Given the description of an element on the screen output the (x, y) to click on. 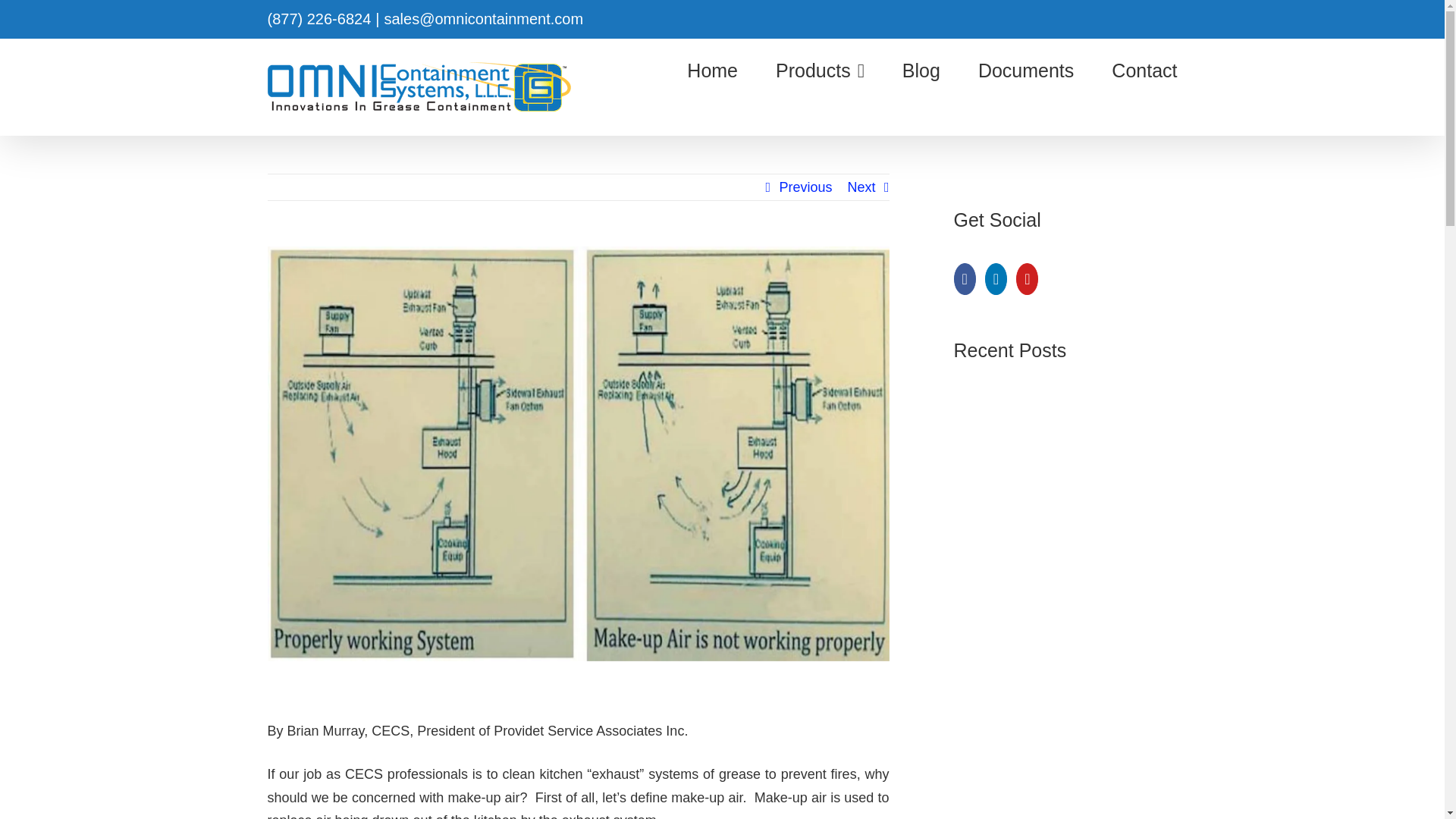
Previous (804, 186)
Products (820, 70)
Contact (1144, 70)
Documents (1026, 70)
Next (861, 186)
